Given the description of an element on the screen output the (x, y) to click on. 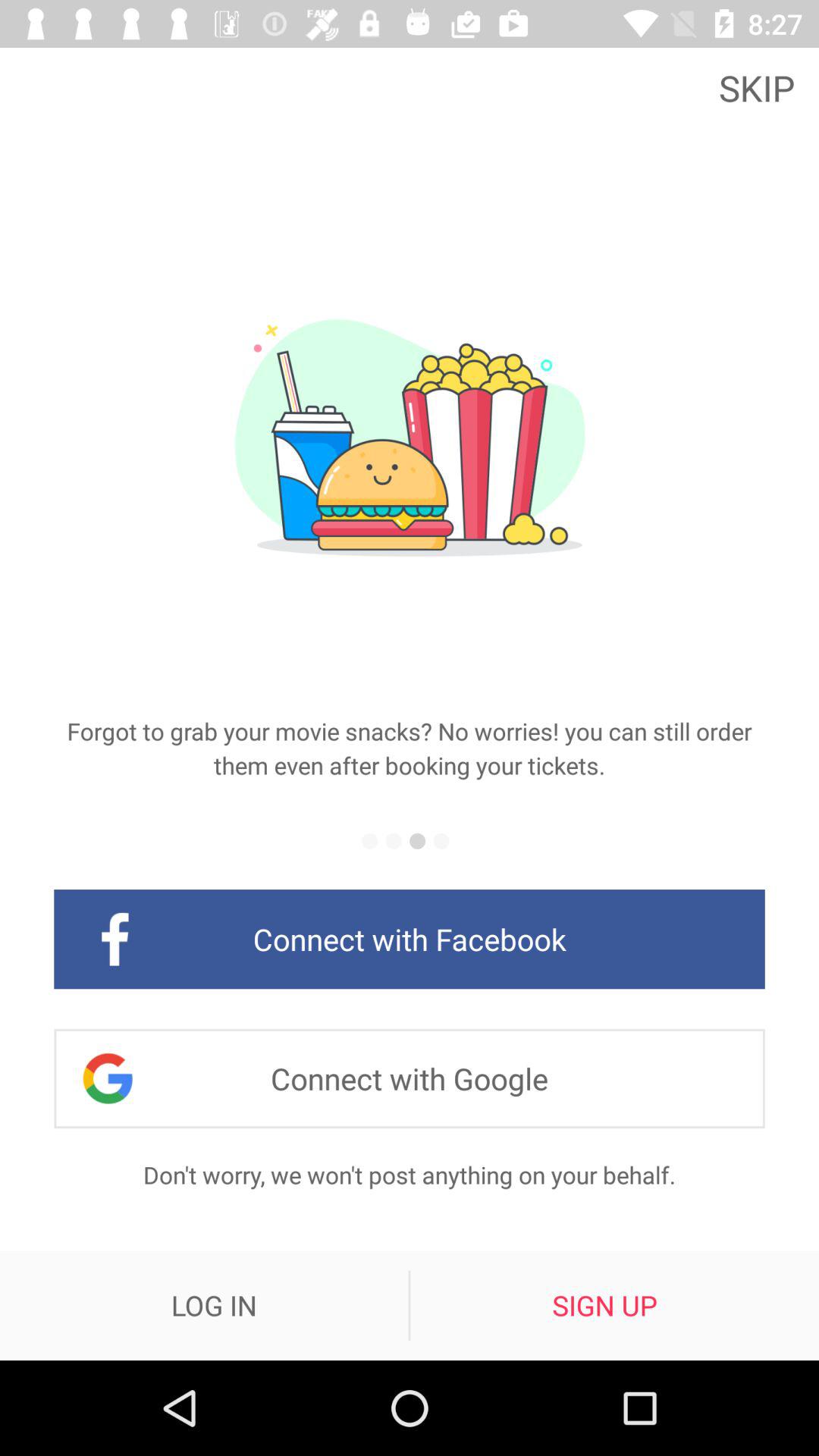
open sign up at the bottom right corner (604, 1305)
